Given the description of an element on the screen output the (x, y) to click on. 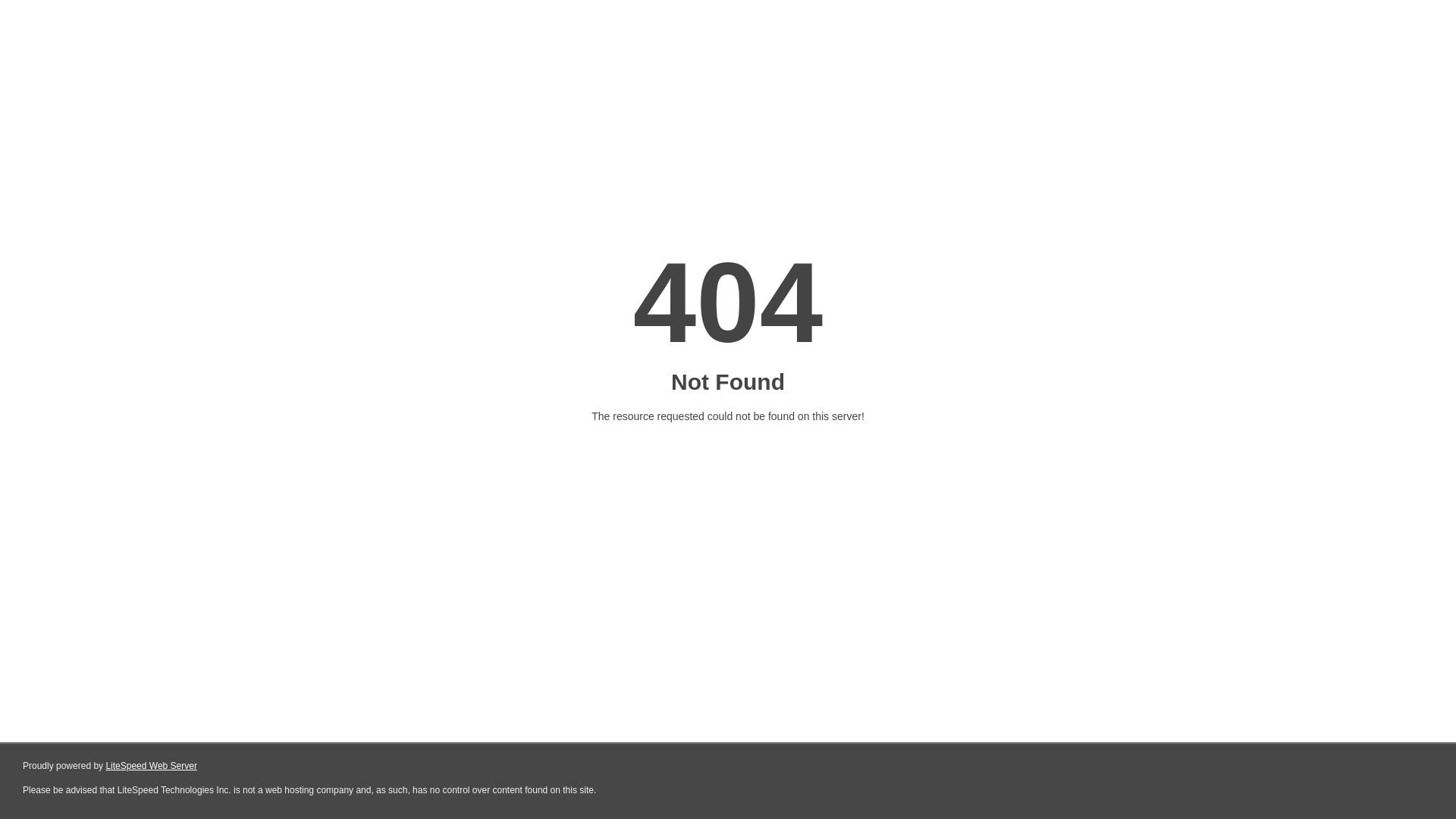
LiteSpeed Web Server Element type: text (151, 765)
